Given the description of an element on the screen output the (x, y) to click on. 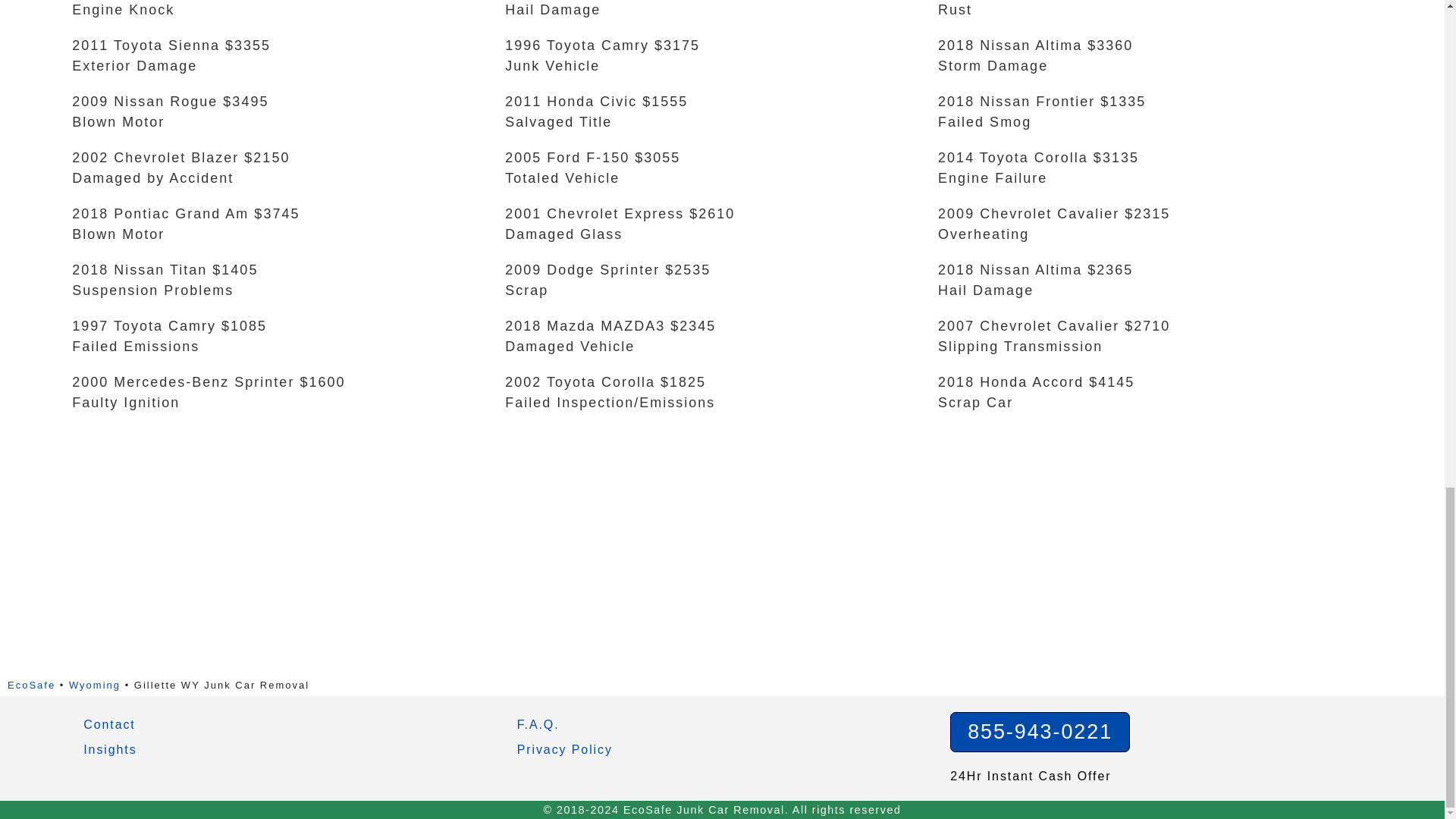
Contact (108, 723)
Privacy Policy (564, 748)
855-943-0221 (1039, 731)
Insights (109, 748)
EcoSafe (31, 685)
F.A.Q. (537, 723)
Wyoming (94, 685)
